Given the description of an element on the screen output the (x, y) to click on. 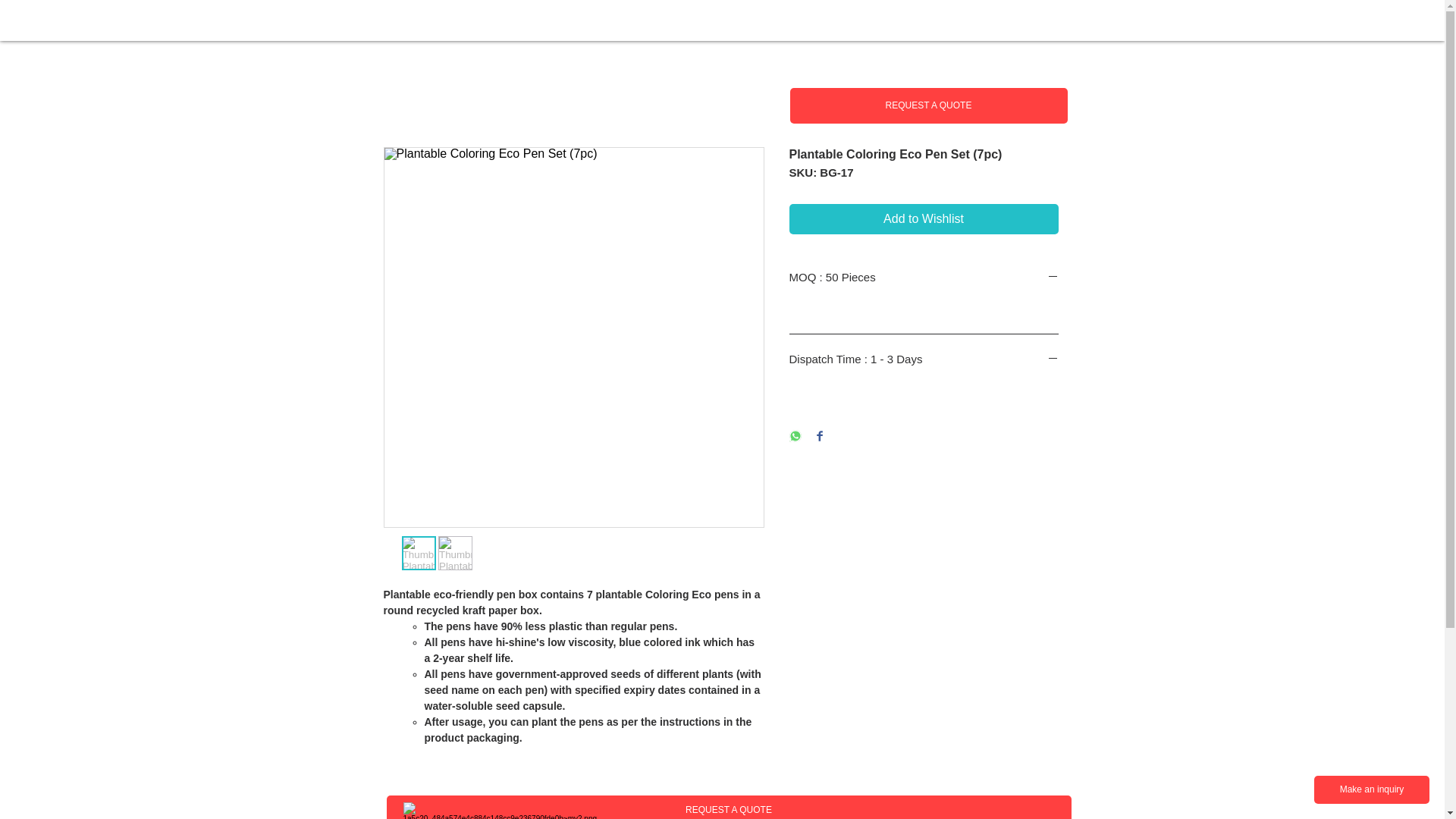
Dispatch Time : 1 - 3 Days (923, 359)
REQUEST A QUOTE (729, 807)
Make an inquiry (1371, 789)
REQUEST A QUOTE (928, 105)
Add to Wishlist (923, 218)
MOQ : 50 Pieces (923, 278)
